Given the description of an element on the screen output the (x, y) to click on. 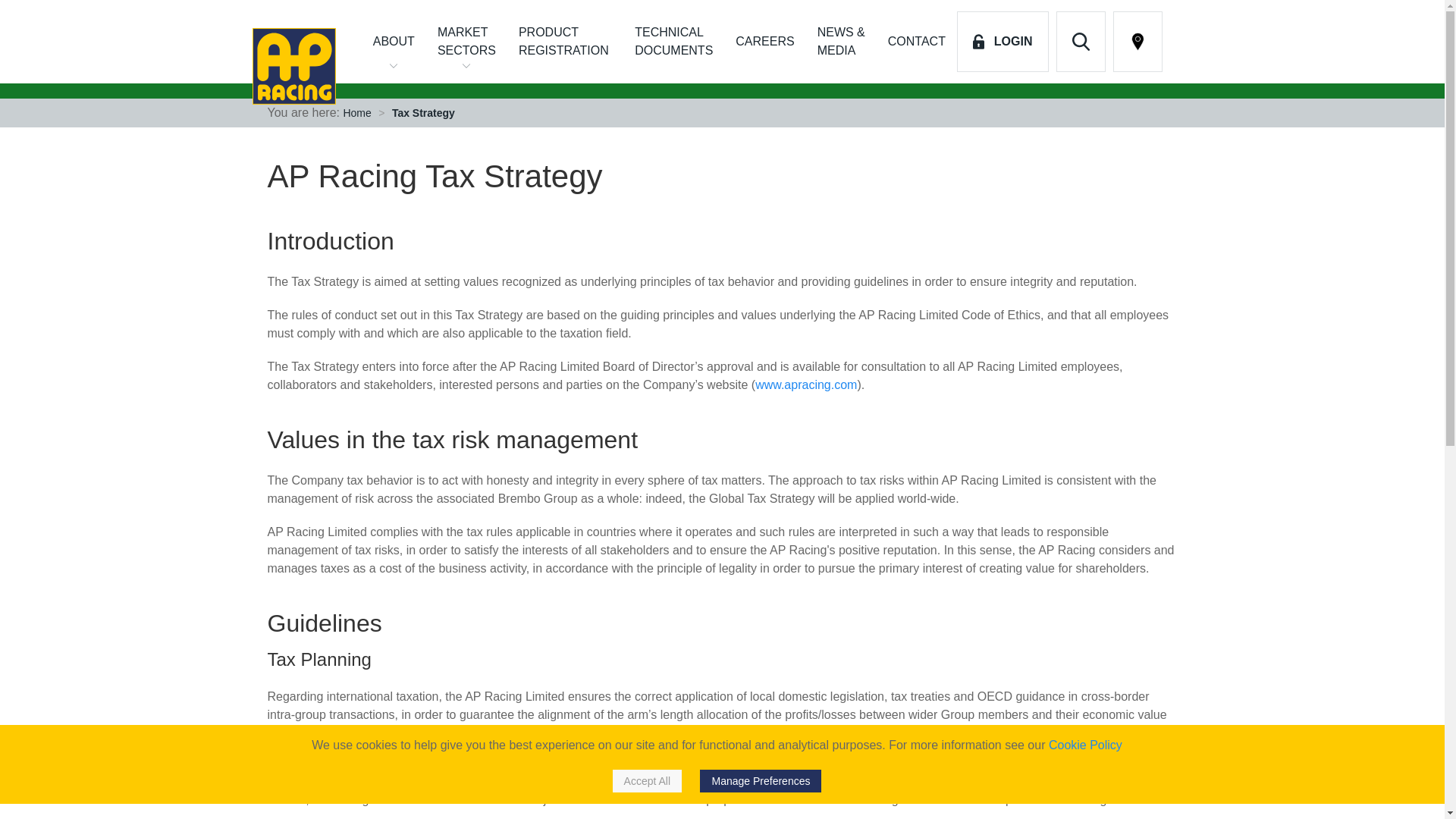
CAREERS (764, 41)
ABOUT (393, 41)
Homepage (300, 65)
  LOGIN (1002, 41)
Product Registration (564, 41)
Market Sectors (466, 41)
MARKET SECTORS (466, 41)
PRODUCT REGISTRATION  (564, 41)
CONTACT (916, 41)
About AP Racing (393, 41)
TECHNICAL DOCUMENTS (673, 41)
